Given the description of an element on the screen output the (x, y) to click on. 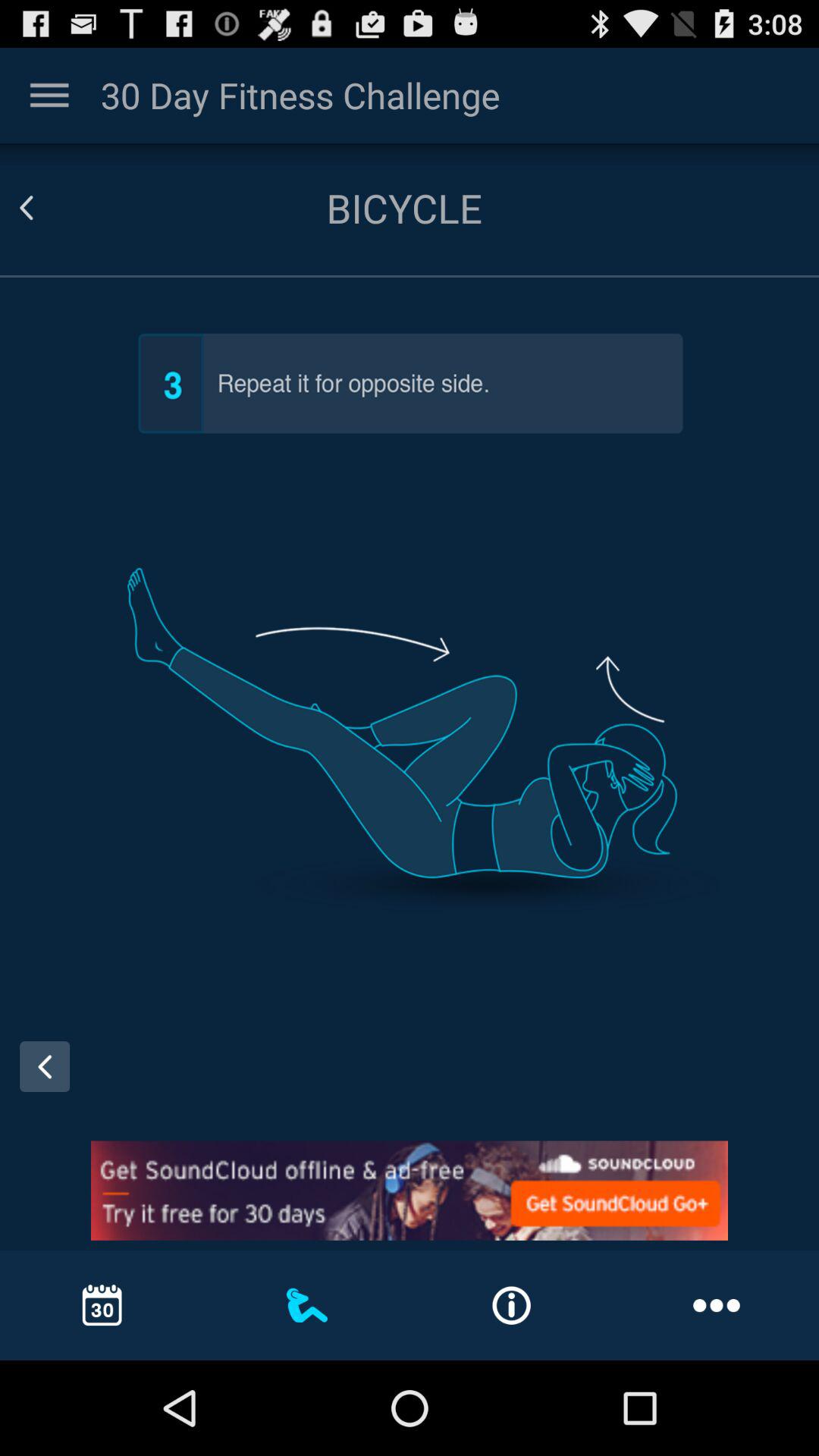
no bounding box (49, 95)
click the information option at the bottom (511, 1305)
click the calendar option in the bottom left corner (102, 1304)
